Given the description of an element on the screen output the (x, y) to click on. 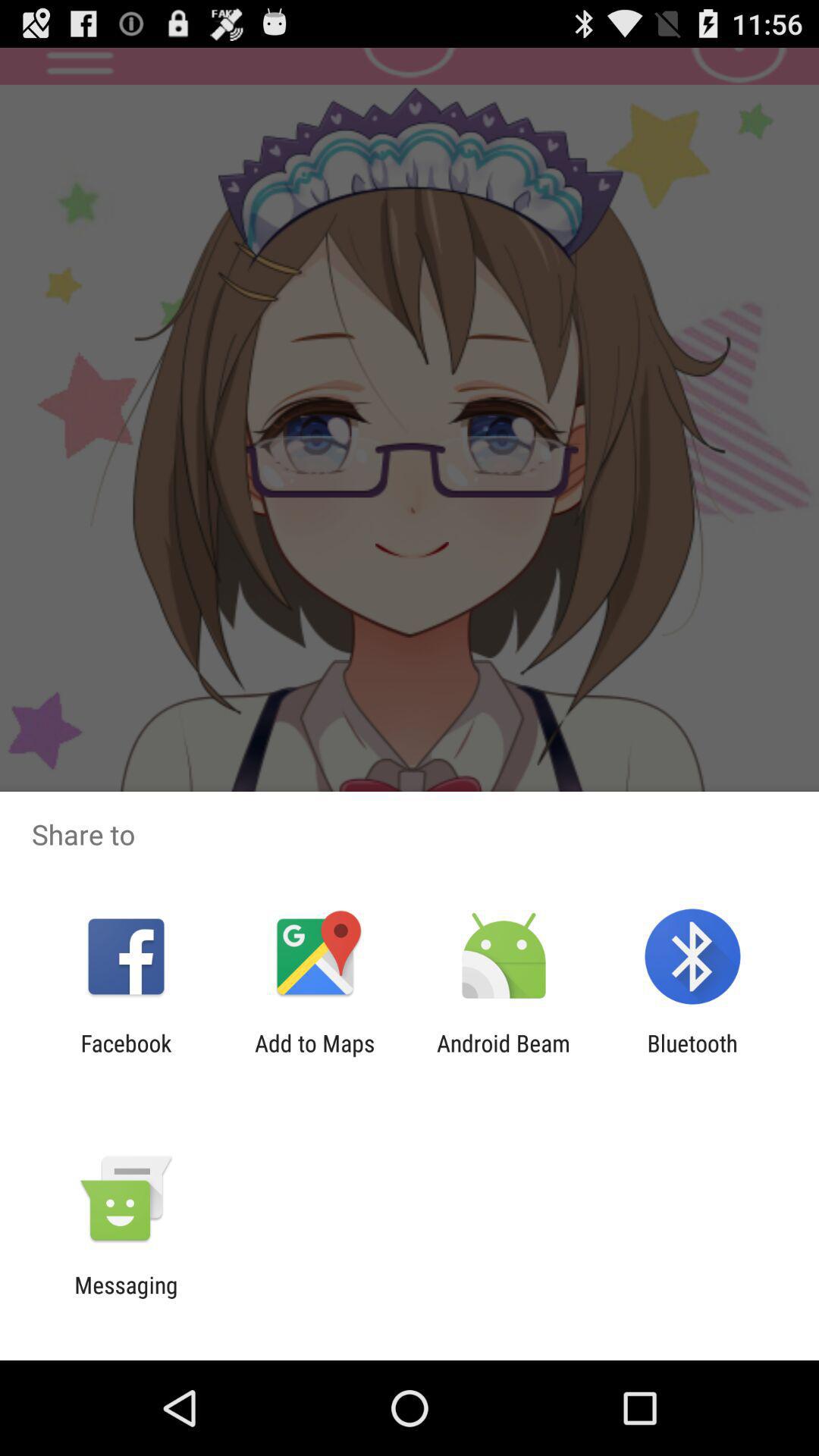
click the facebook app (125, 1056)
